Given the description of an element on the screen output the (x, y) to click on. 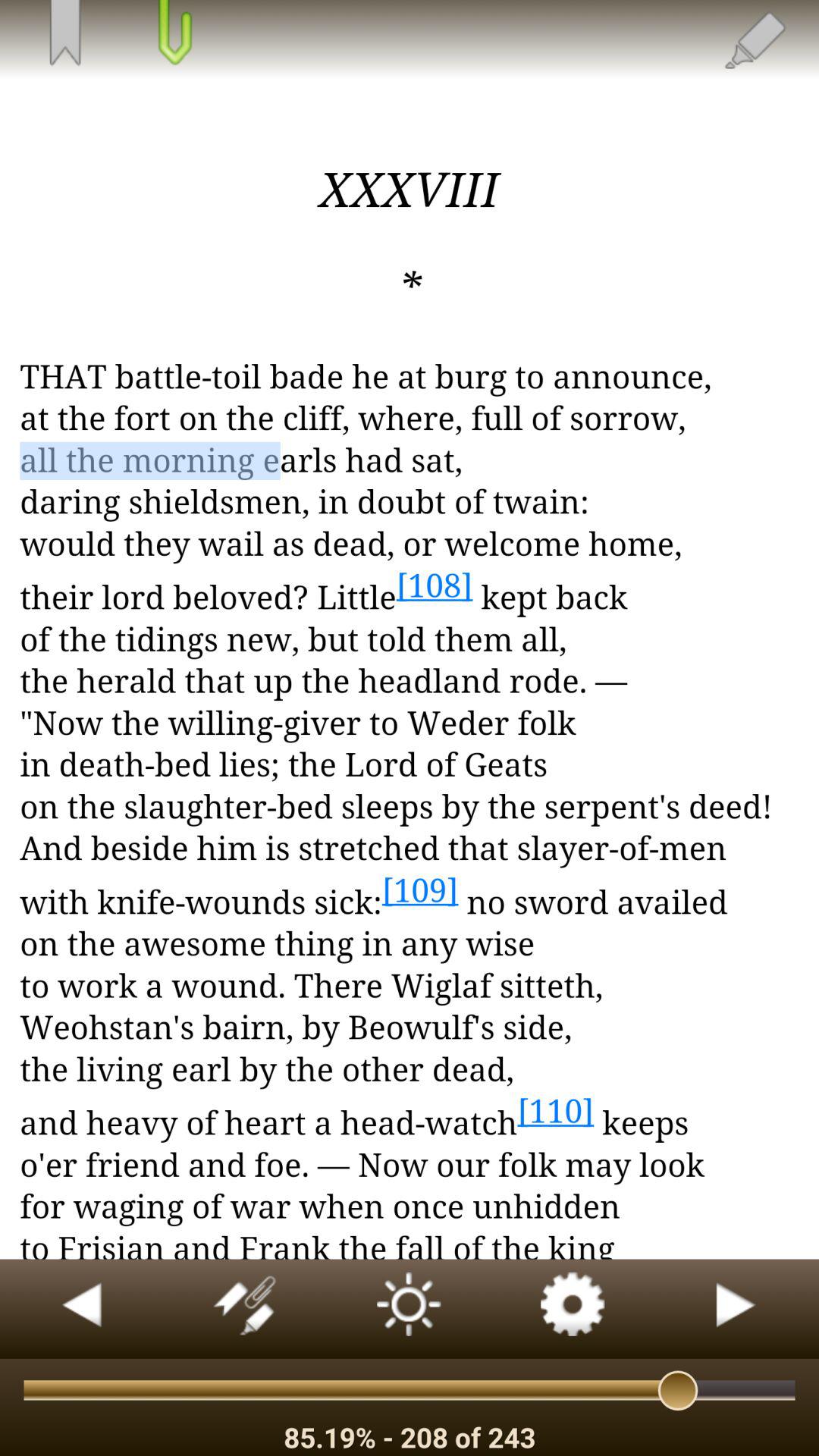
go to back (737, 1308)
